Given the description of an element on the screen output the (x, y) to click on. 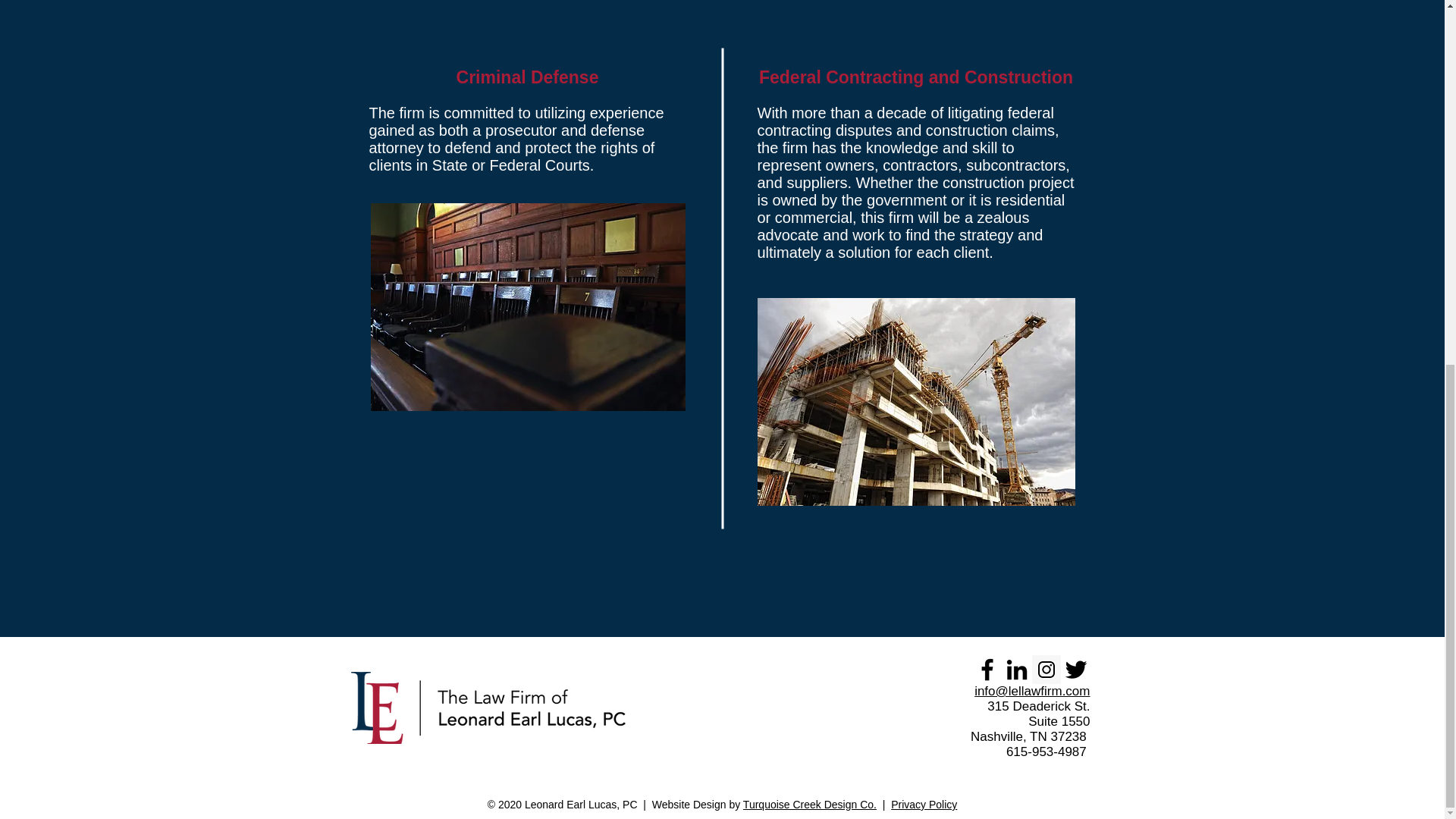
Privacy Policy (923, 804)
commercial construction photo.jpg (915, 402)
Turquoise Creek Design Co. (809, 804)
Jury Photo.jpg (526, 307)
